Given the description of an element on the screen output the (x, y) to click on. 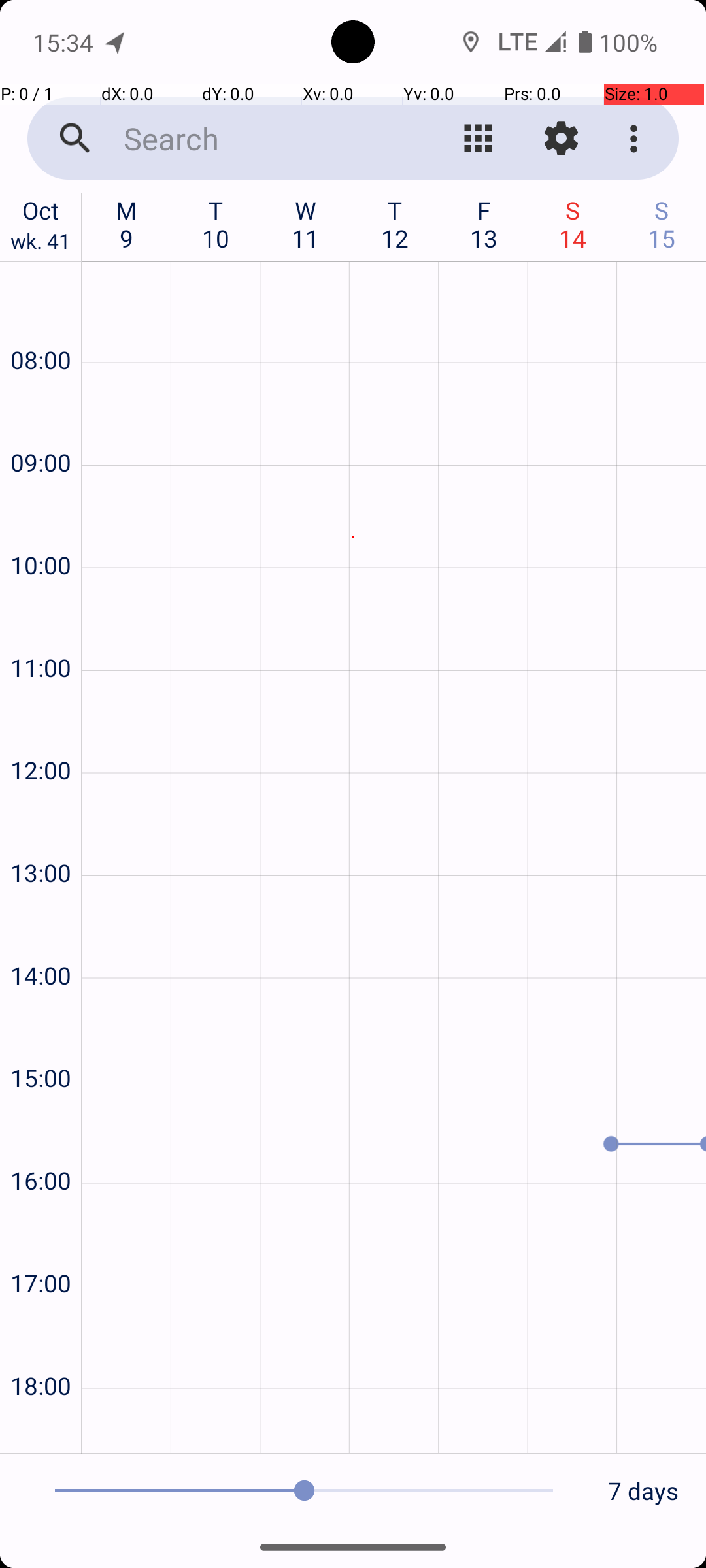
wk. 41 Element type: android.widget.TextView (40, 243)
7 days Element type: android.widget.TextView (642, 1490)
08:00 Element type: android.widget.TextView (40, 324)
10:00 Element type: android.widget.TextView (40, 529)
12:00 Element type: android.widget.TextView (40, 735)
14:00 Element type: android.widget.TextView (40, 940)
15:00 Element type: android.widget.TextView (40, 1042)
18:00 Element type: android.widget.TextView (40, 1350)
19:00 Element type: android.widget.TextView (40, 1428)
M
9 Element type: android.widget.TextView (126, 223)
T
10 Element type: android.widget.TextView (215, 223)
W
11 Element type: android.widget.TextView (305, 223)
T
12 Element type: android.widget.TextView (394, 223)
F
13 Element type: android.widget.TextView (483, 223)
S
14 Element type: android.widget.TextView (572, 223)
S
15 Element type: android.widget.TextView (661, 223)
